Given the description of an element on the screen output the (x, y) to click on. 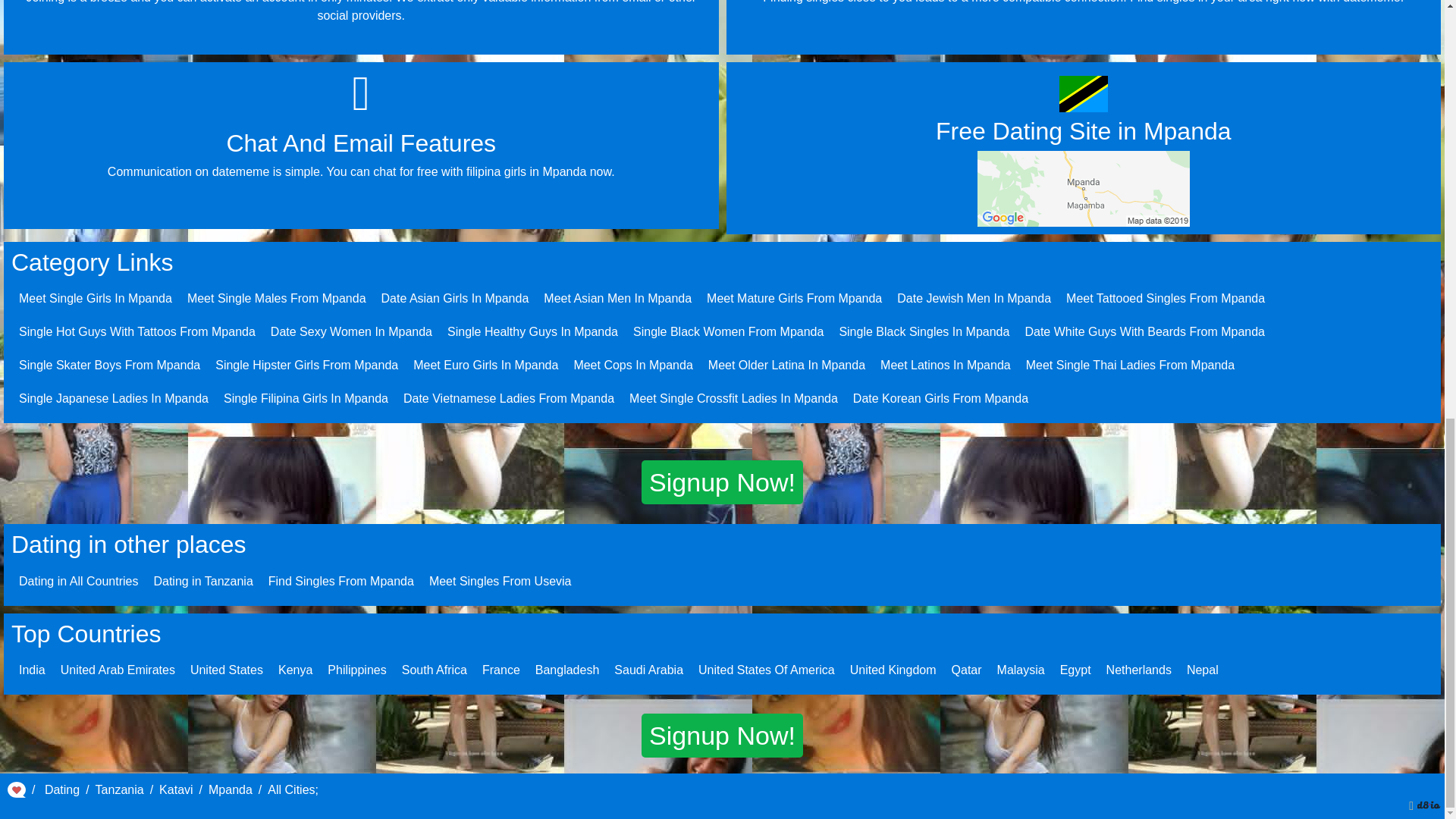
Date Asian Girls In Mpanda (455, 297)
Meet Asian Men In Mpanda (617, 297)
Meet Single Males From Mpanda (276, 297)
Meet Single Girls In Mpanda (94, 297)
